Given the description of an element on the screen output the (x, y) to click on. 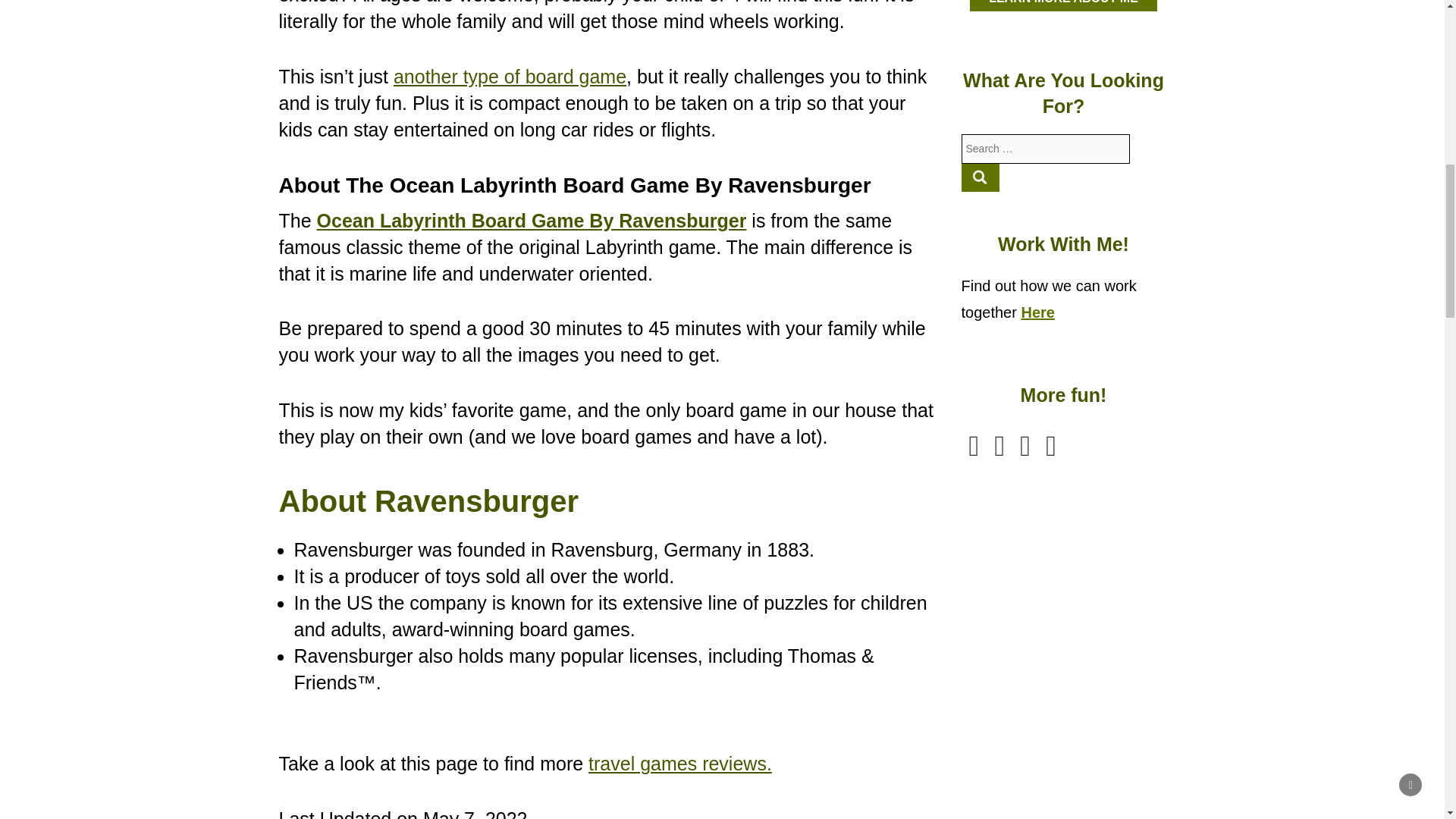
Search for: (1045, 148)
Search (980, 177)
Search (980, 177)
